Given the description of an element on the screen output the (x, y) to click on. 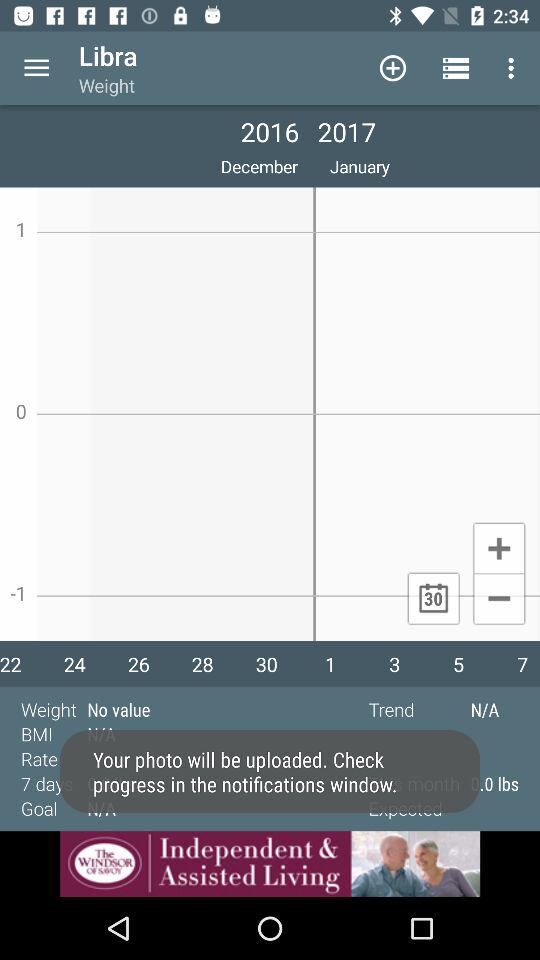
click on the option to the next  right of add symbol (456, 68)
